Given the description of an element on the screen output the (x, y) to click on. 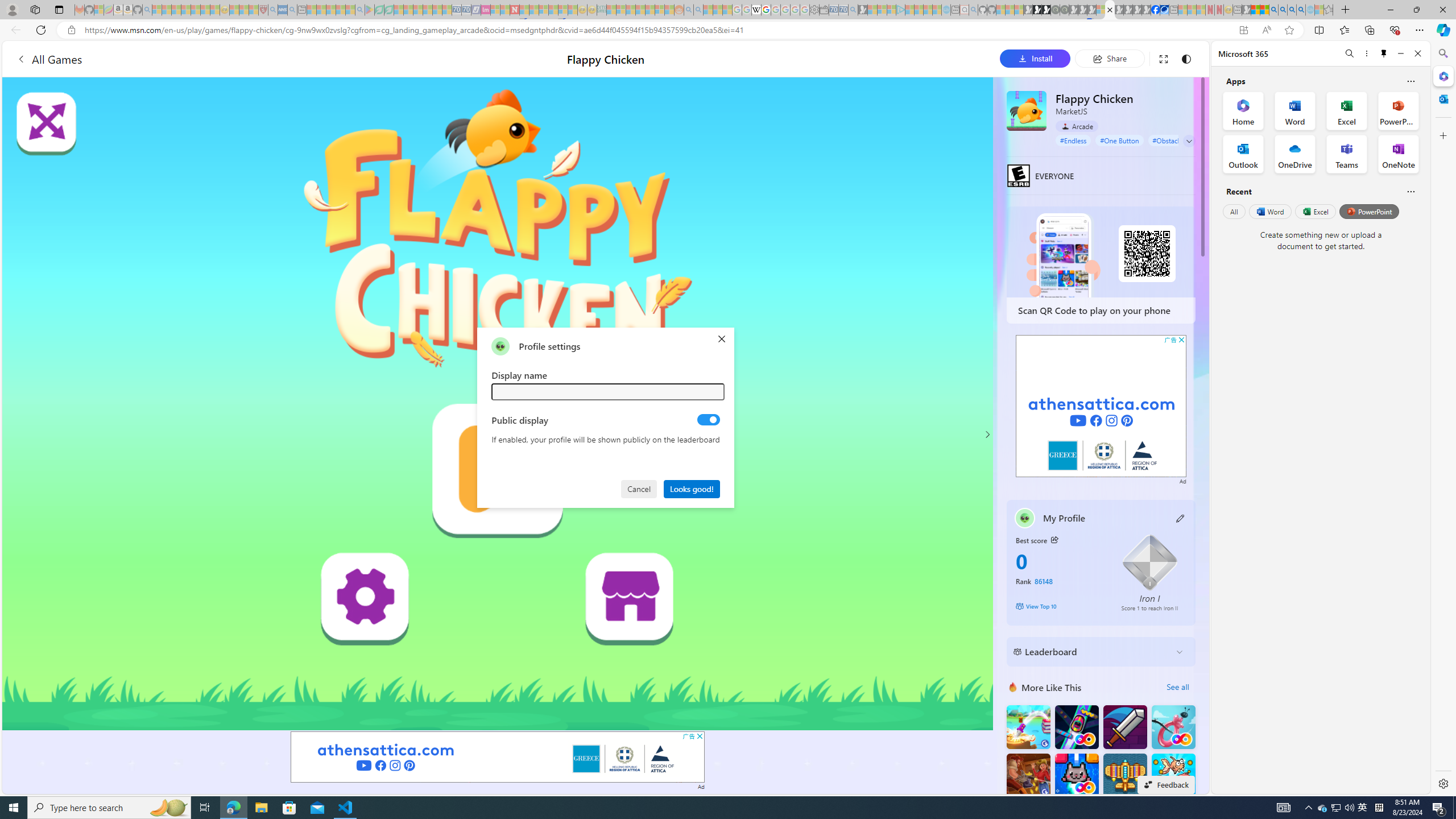
Excel (1315, 210)
Microsoft-Report a Concern to Bing - Sleeping (98, 9)
New tab - Sleeping (1236, 9)
Class: button edit-icon (1180, 517)
AirNow.gov (1163, 9)
""'s avatar (500, 345)
Kinda Frugal - MSN - Sleeping (649, 9)
Bumper Car FRVR (1076, 726)
